Given the description of an element on the screen output the (x, y) to click on. 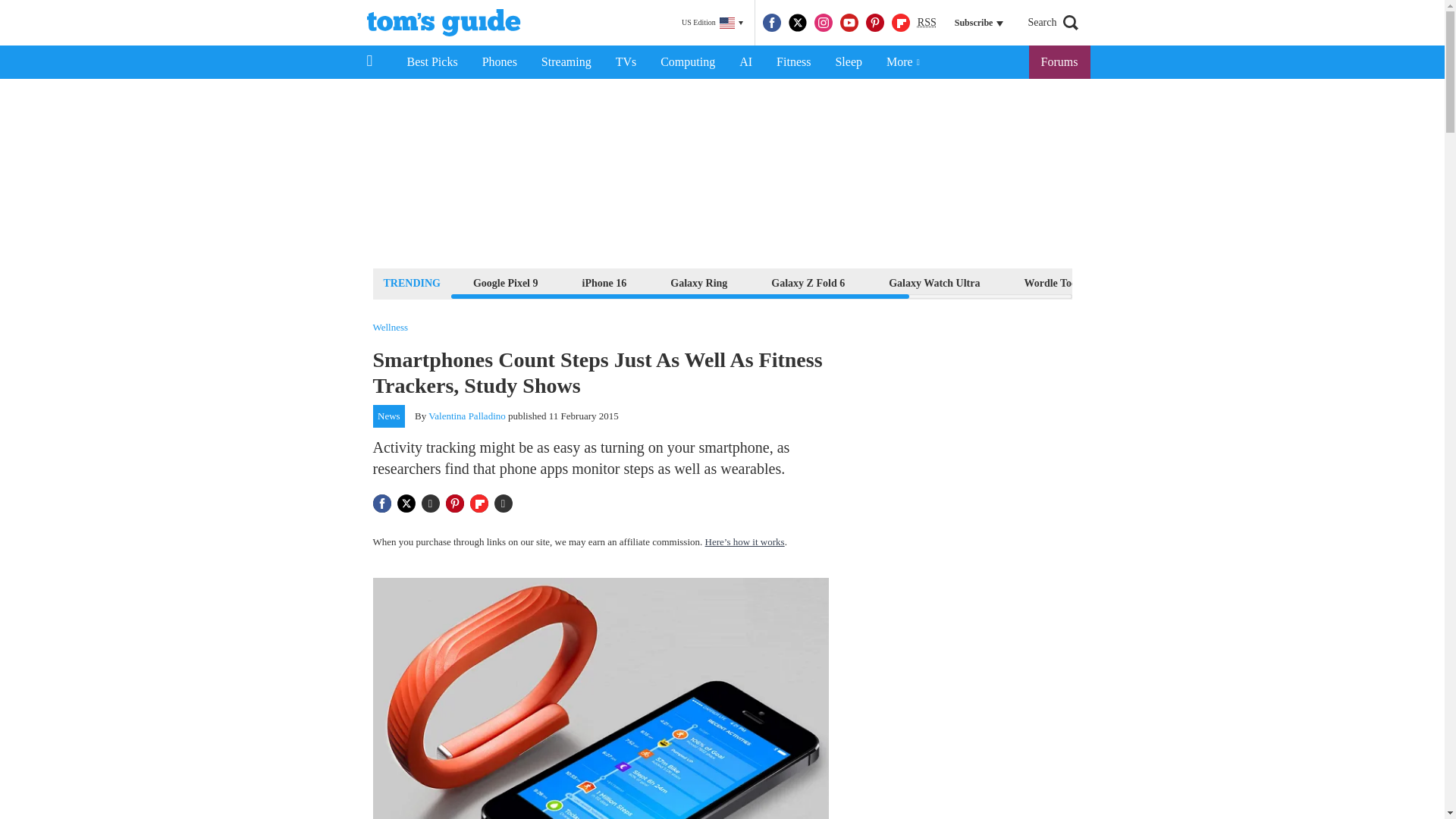
Streaming (566, 61)
RSS (926, 22)
Fitness (793, 61)
AI (745, 61)
Phones (499, 61)
Computing (686, 61)
Sleep (848, 61)
TVs (626, 61)
Really Simple Syndication (926, 21)
US Edition (712, 22)
